Given the description of an element on the screen output the (x, y) to click on. 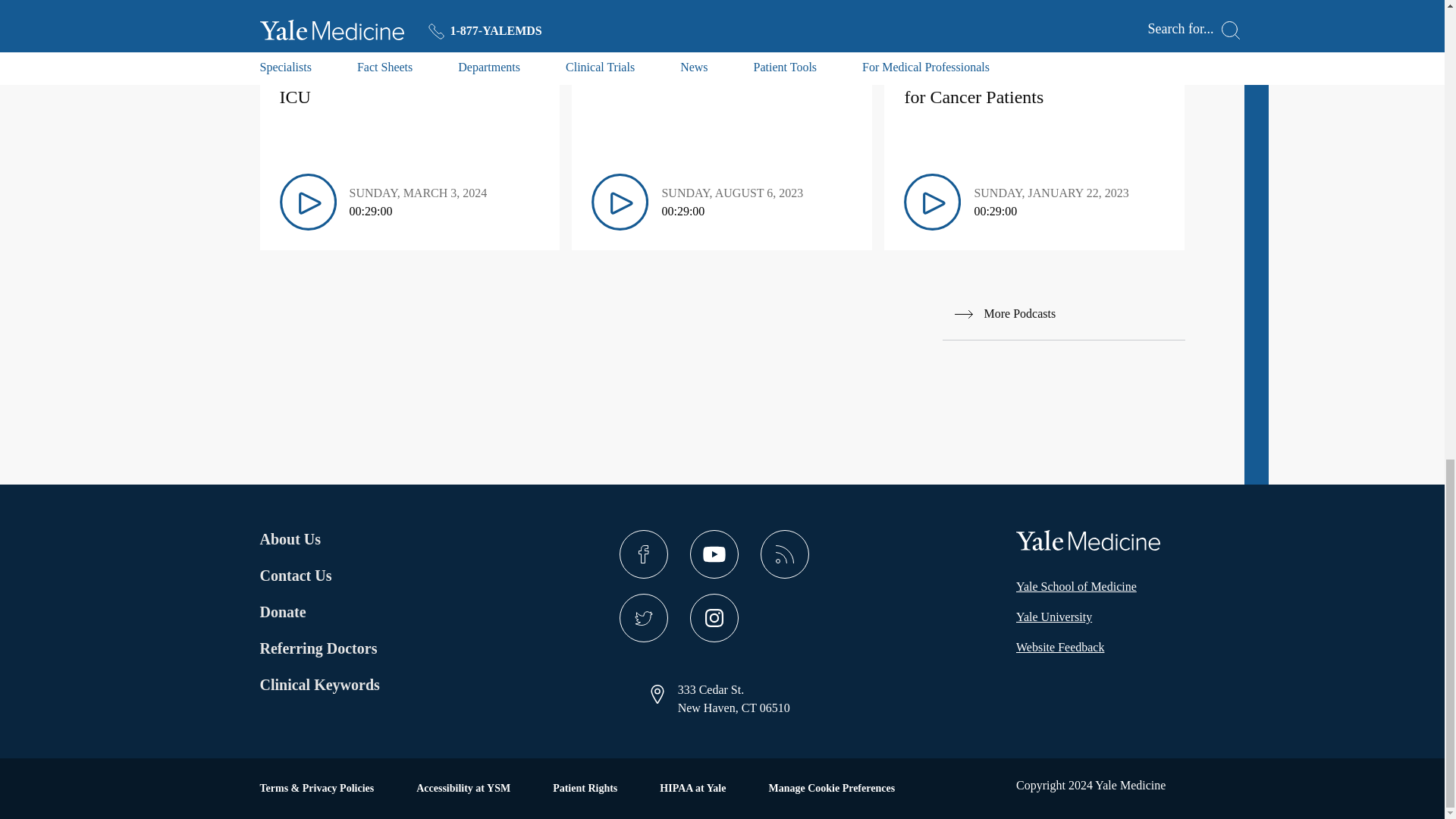
Patient Rights (585, 788)
Accessibility at YSM (463, 788)
Donate (318, 611)
About Us (318, 538)
Yale University (1054, 617)
Referring Doctors (318, 648)
Clinical Keywords (339, 684)
More Podcasts (1063, 314)
Yale School of Medicine (1076, 587)
